Given the description of an element on the screen output the (x, y) to click on. 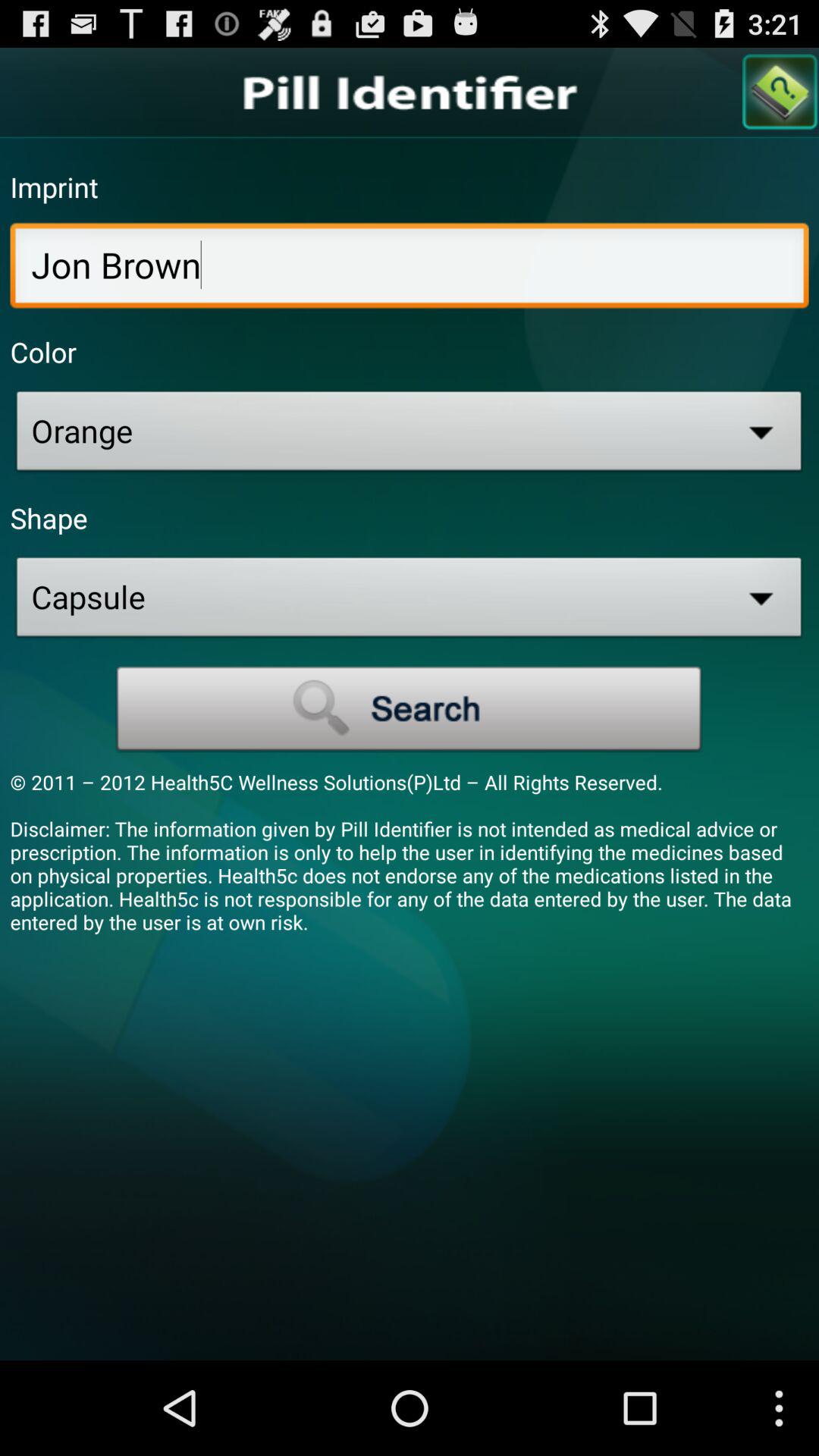
search button (409, 709)
